Given the description of an element on the screen output the (x, y) to click on. 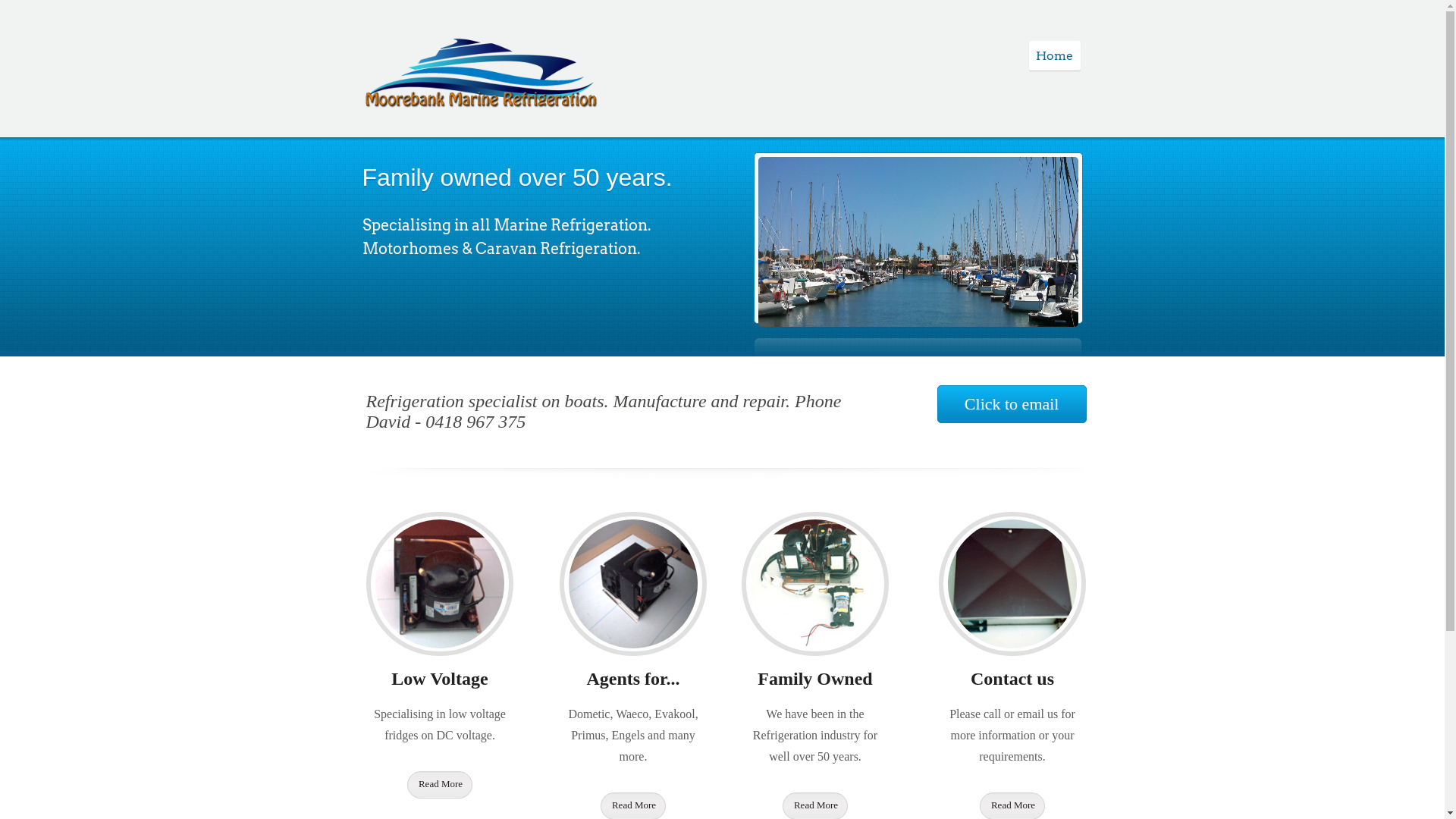
Family owned over 50 years. Element type: text (517, 177)
Agents for... Element type: text (632, 678)
Family Owned Element type: text (814, 678)
Contact us Element type: text (1012, 678)
Home Element type: text (1054, 55)
Click to email Element type: text (1011, 404)
Read More Element type: text (439, 784)
Low Voltage Element type: text (439, 678)
